Given the description of an element on the screen output the (x, y) to click on. 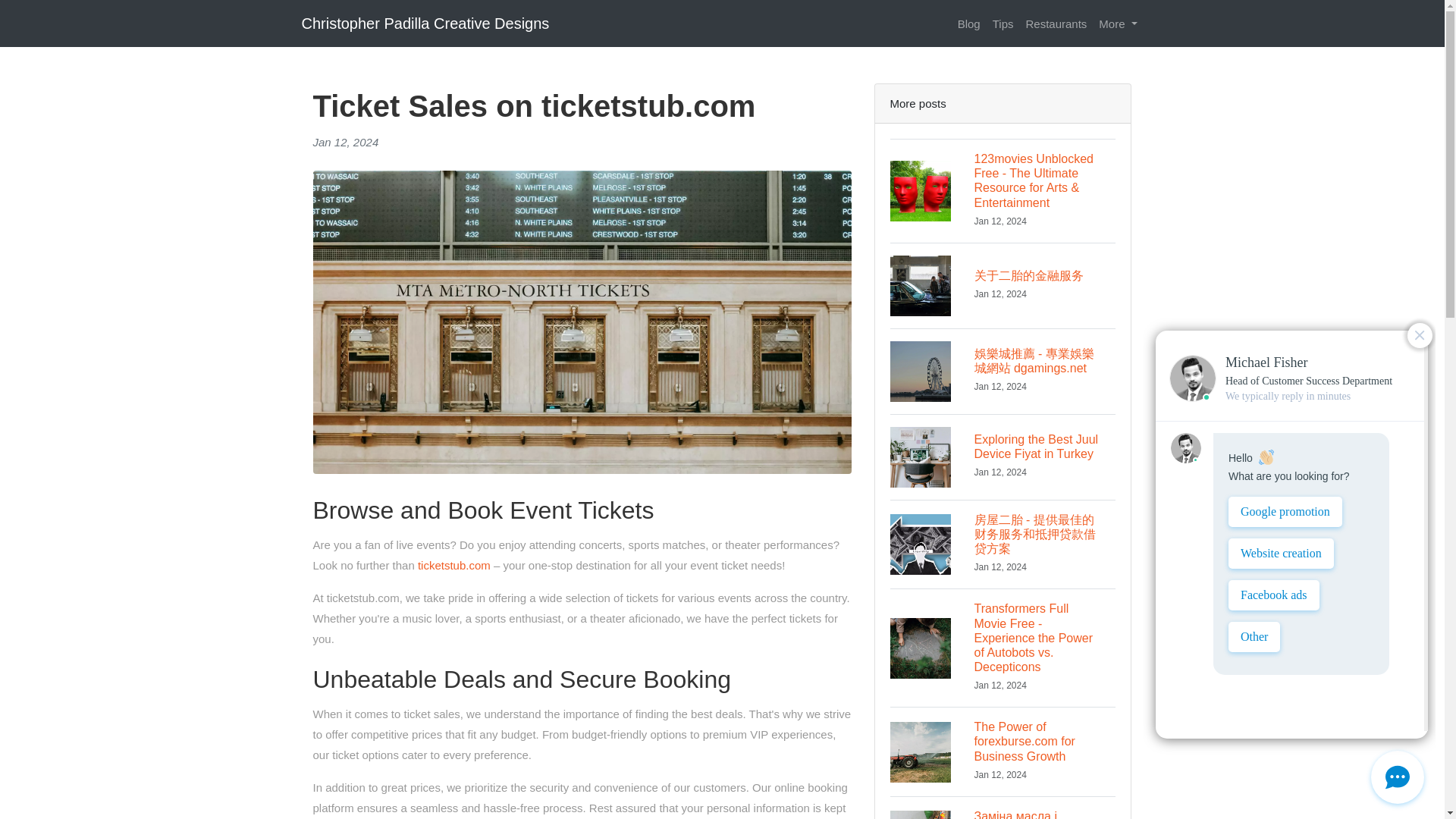
More (1117, 23)
Tips (1003, 23)
ticketstub.com (453, 564)
Christopher Padilla Creative Designs (1002, 456)
Restaurants (425, 22)
Blog (1056, 23)
